Given the description of an element on the screen output the (x, y) to click on. 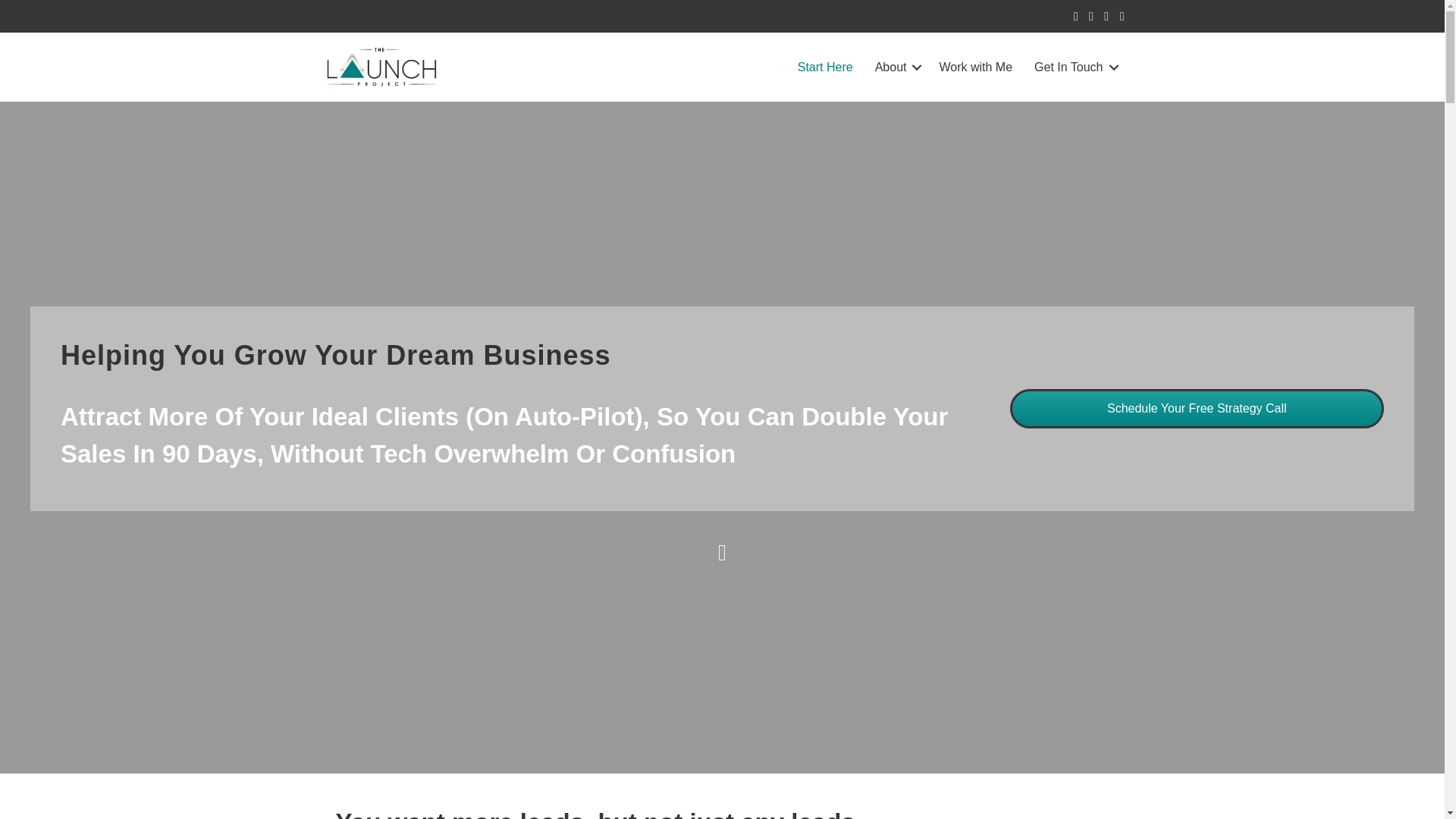
Get In Touch (1073, 66)
The Launch Project Logo (382, 67)
Work with Me (975, 66)
About (896, 66)
Start Here (825, 66)
Schedule Your Free Strategy Call (1197, 408)
